Given the description of an element on the screen output the (x, y) to click on. 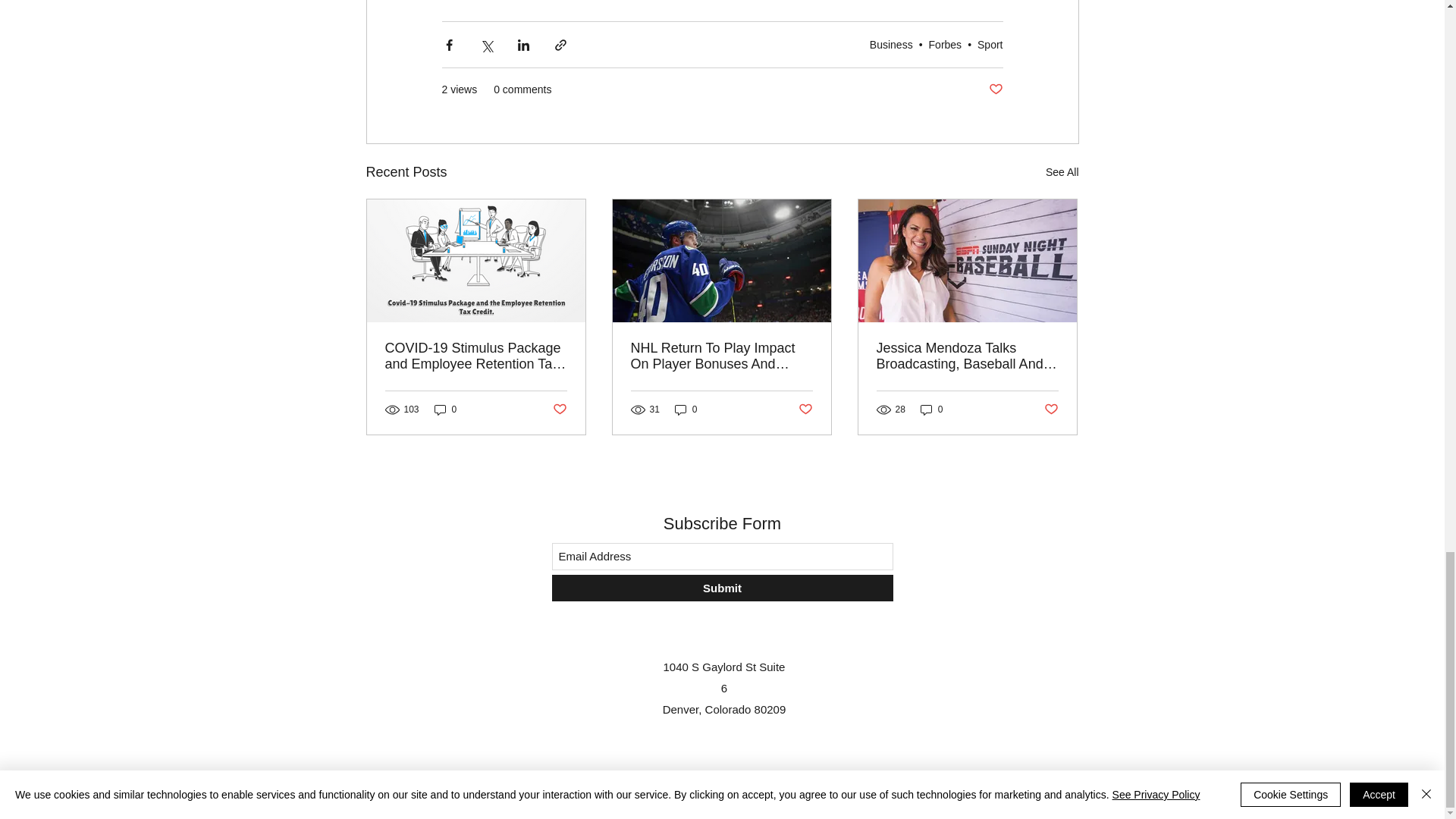
Post not marked as liked (804, 408)
Business (890, 44)
0 (685, 409)
Sport (989, 44)
Post not marked as liked (558, 408)
0 (445, 409)
Forbes (945, 44)
COVID-19 Stimulus Package and Employee Retention Tax Credit (476, 356)
See All (1061, 172)
